Given the description of an element on the screen output the (x, y) to click on. 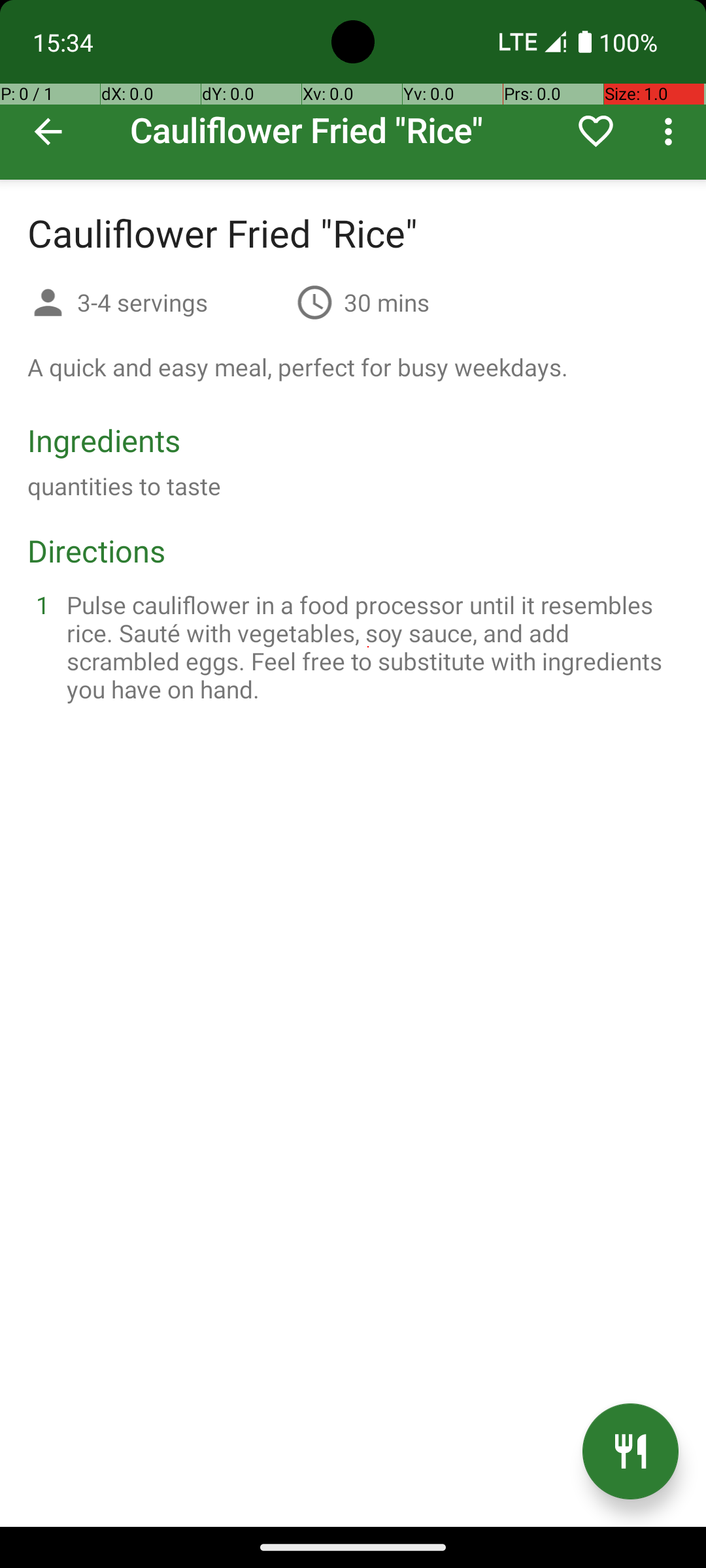
Pulse cauliflower in a food processor until it resembles rice. Sauté with vegetables, soy sauce, and add scrambled eggs. Feel free to substitute with ingredients you have on hand. Element type: android.widget.TextView (368, 646)
